Given the description of an element on the screen output the (x, y) to click on. 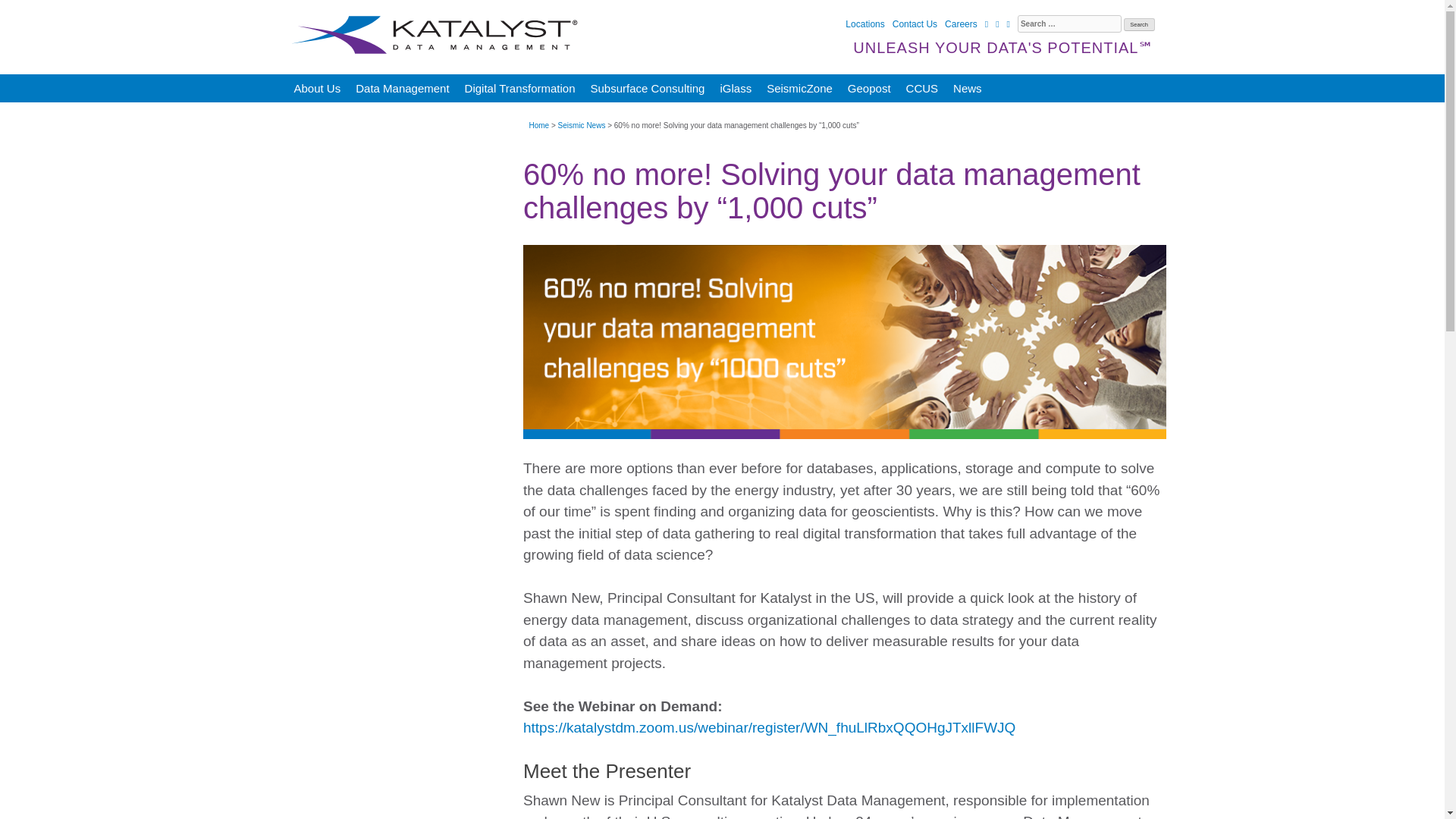
Careers (960, 23)
Contact Us (914, 23)
Locations (864, 23)
Data Management (402, 88)
Search (1139, 24)
Search (1139, 24)
Digital Transformation (520, 88)
About Us (317, 88)
Subsurface Consulting (648, 88)
Search (1139, 24)
